Given the description of an element on the screen output the (x, y) to click on. 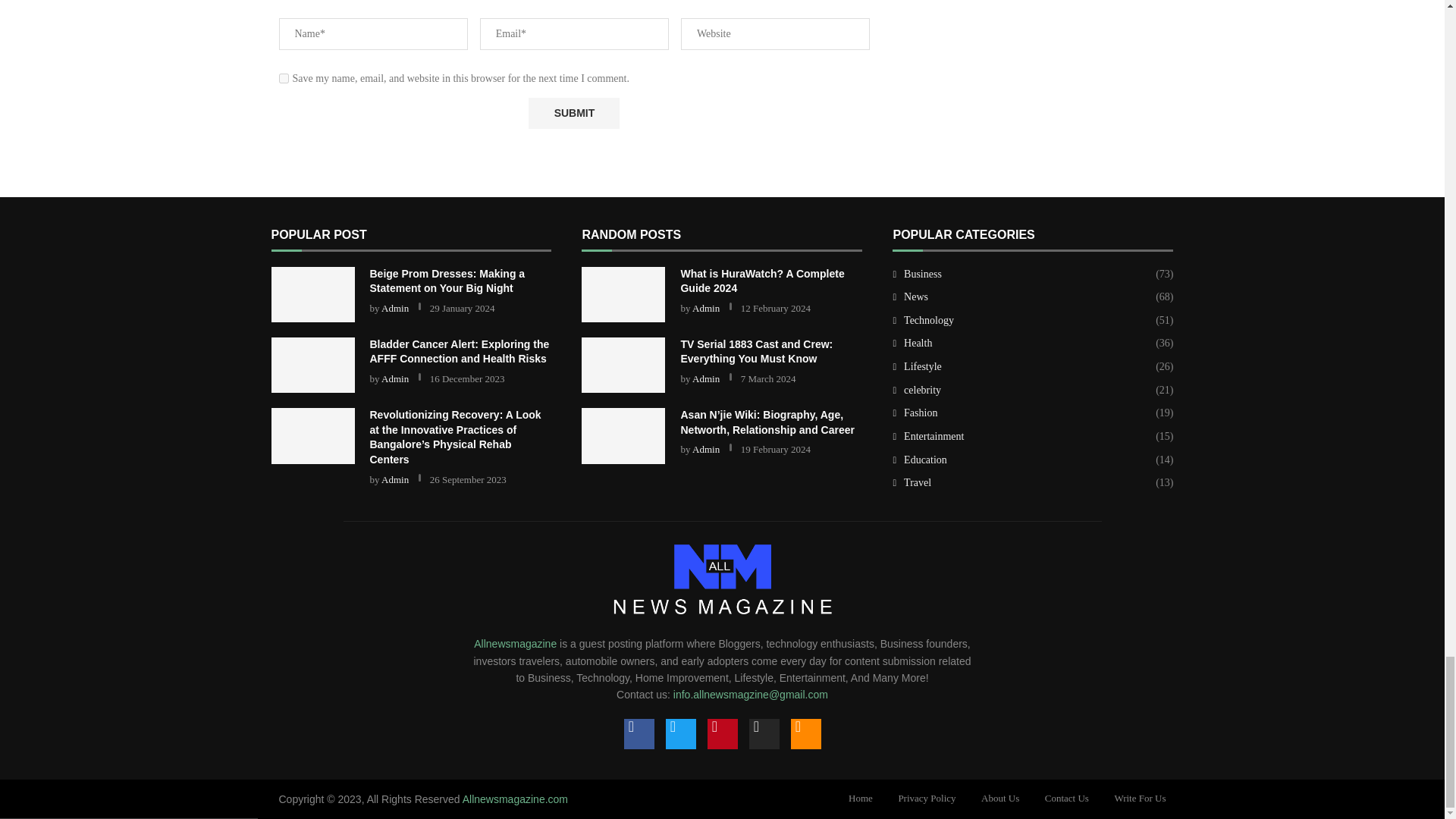
yes (283, 78)
Submit (574, 112)
